Given the description of an element on the screen output the (x, y) to click on. 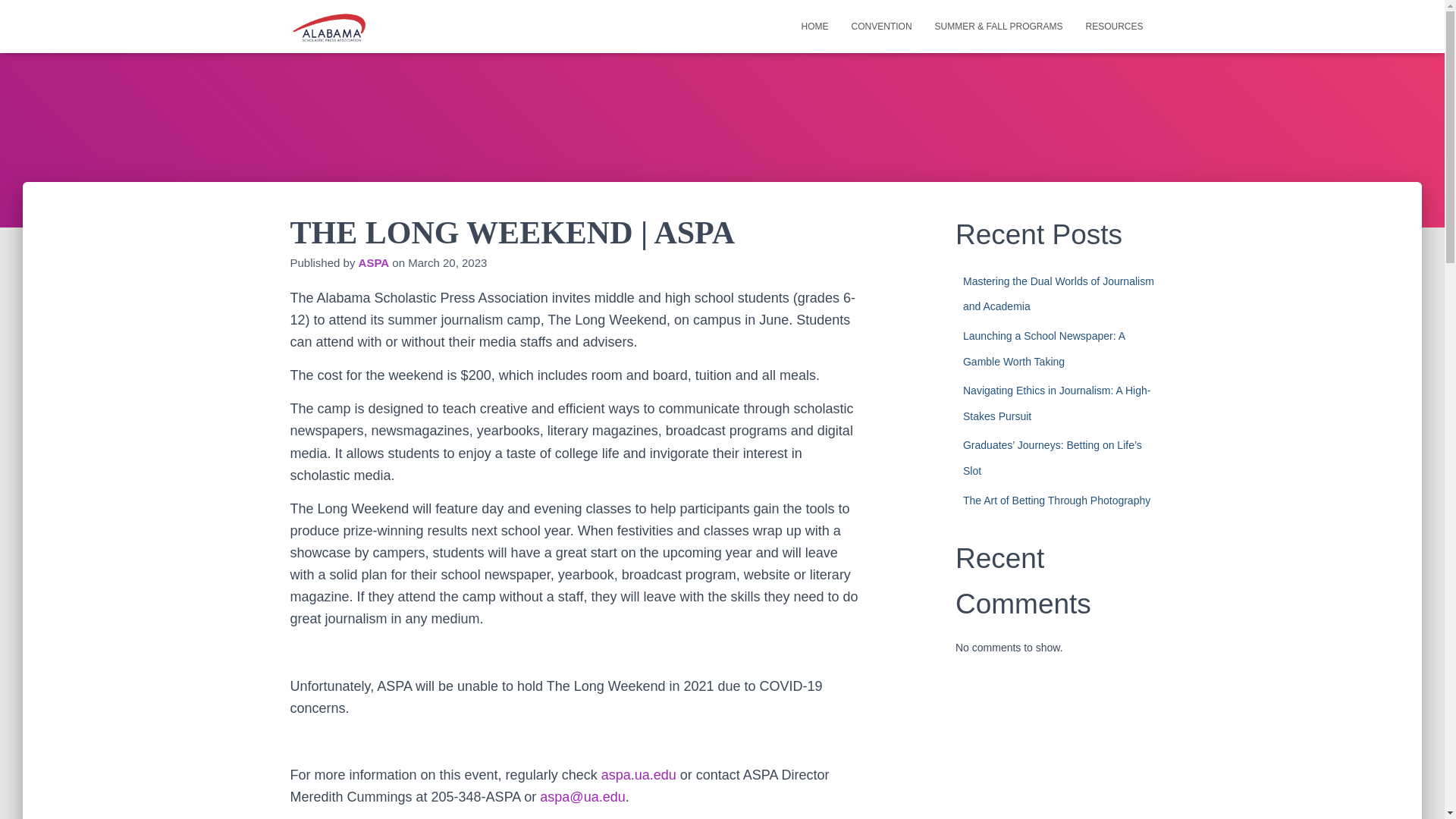
RESOURCES (1114, 26)
Home (815, 26)
CONVENTION (881, 26)
HOME (815, 26)
CONVENTION (881, 26)
Launching a School Newspaper: A Gamble Worth Taking (1043, 348)
Mastering the Dual Worlds of Journalism and Academia (1058, 293)
Navigating Ethics in Journalism: A High-Stakes Pursuit (1056, 403)
ASPA (374, 262)
aspa.ua.edu (639, 774)
